Given the description of an element on the screen output the (x, y) to click on. 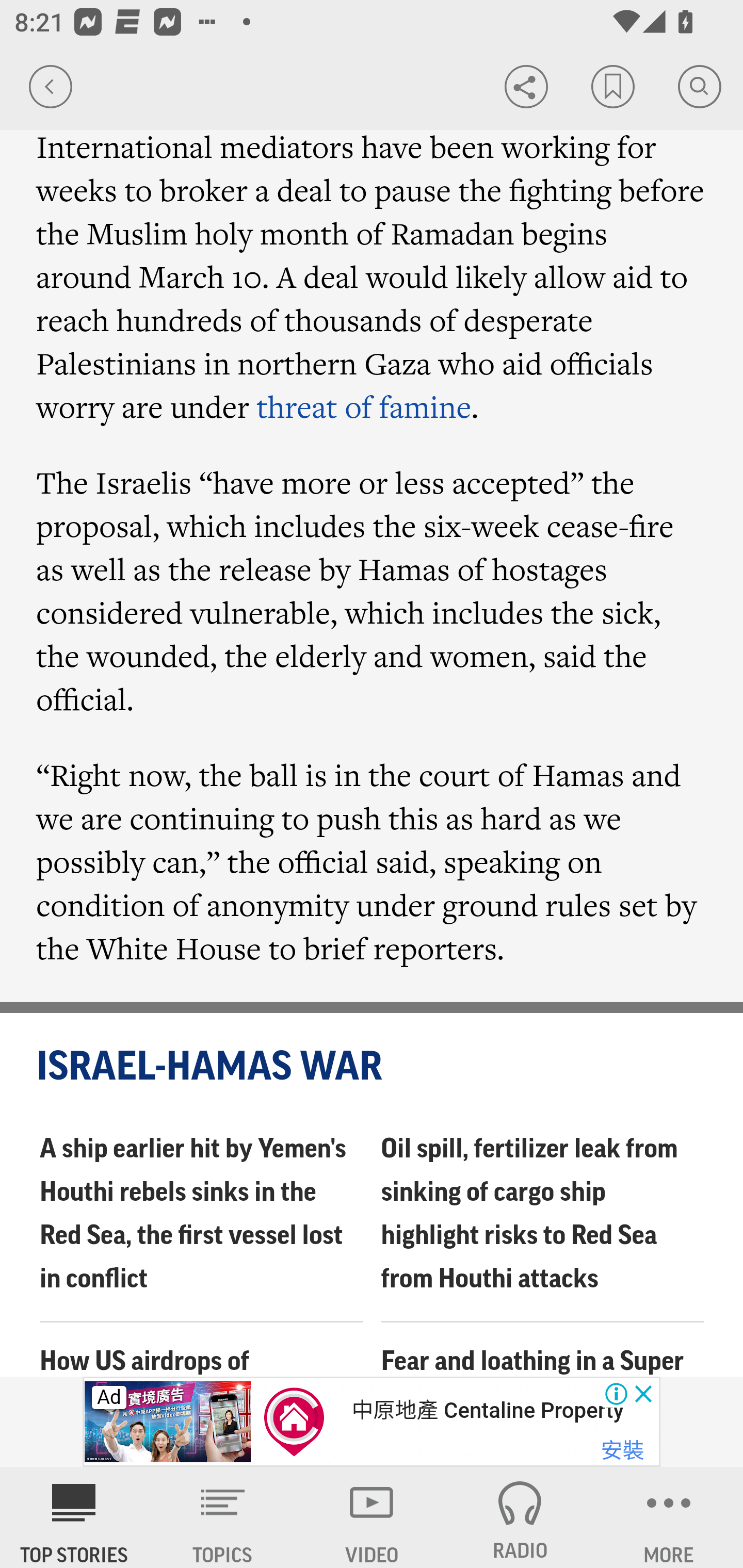
threat of famine (364, 406)
ISRAEL-HAMAS WAR (372, 1067)
中原地產 Centaline Property (486, 1410)
安裝 (621, 1450)
AP News TOP STORIES (74, 1517)
TOPICS (222, 1517)
VIDEO (371, 1517)
RADIO (519, 1517)
MORE (668, 1517)
